Given the description of an element on the screen output the (x, y) to click on. 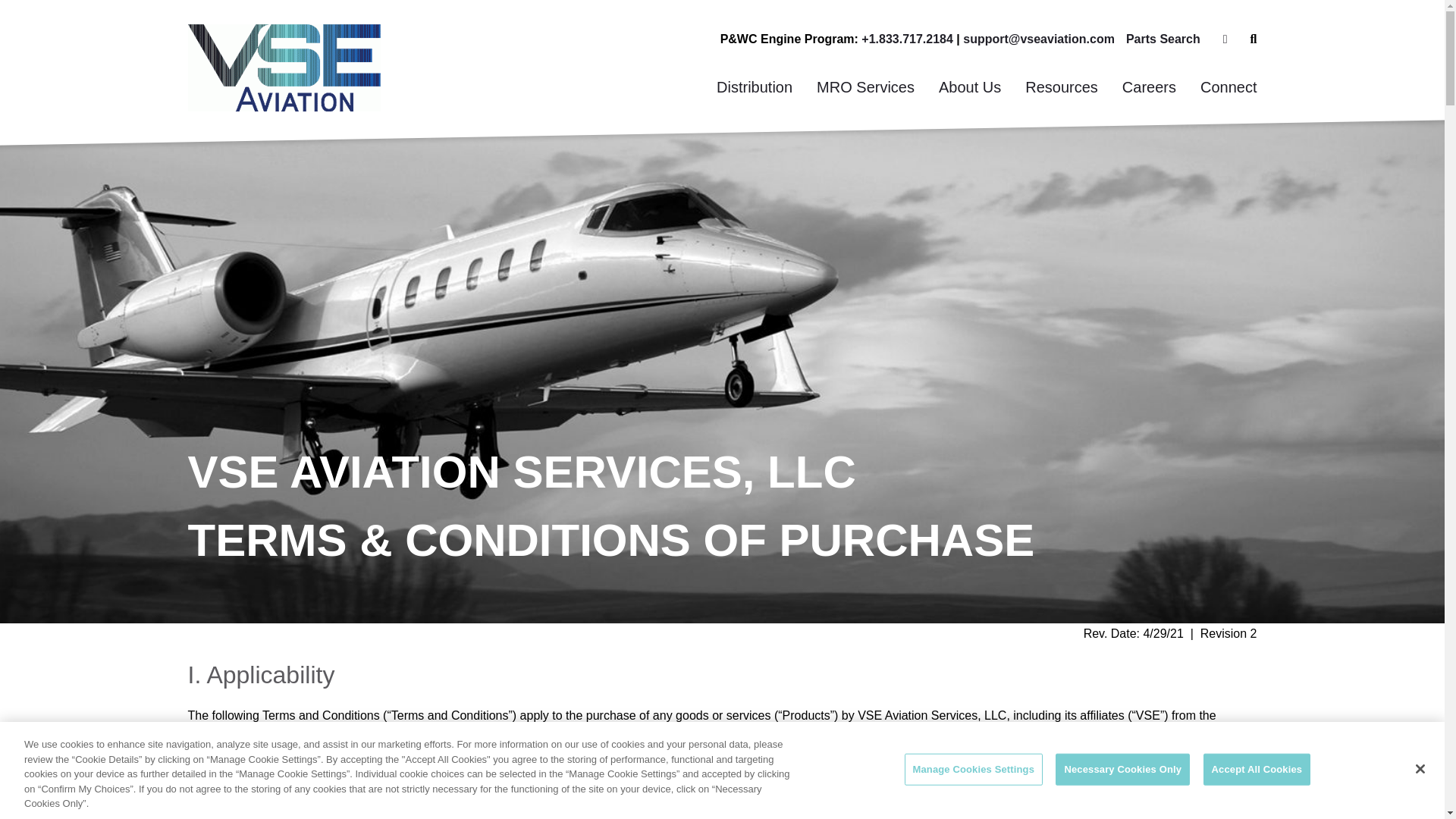
Resources (1061, 87)
Parts Search (1162, 38)
Connect (1228, 87)
Distribution (754, 87)
MRO Services (865, 87)
About Us (969, 87)
Careers (1148, 87)
